Given the description of an element on the screen output the (x, y) to click on. 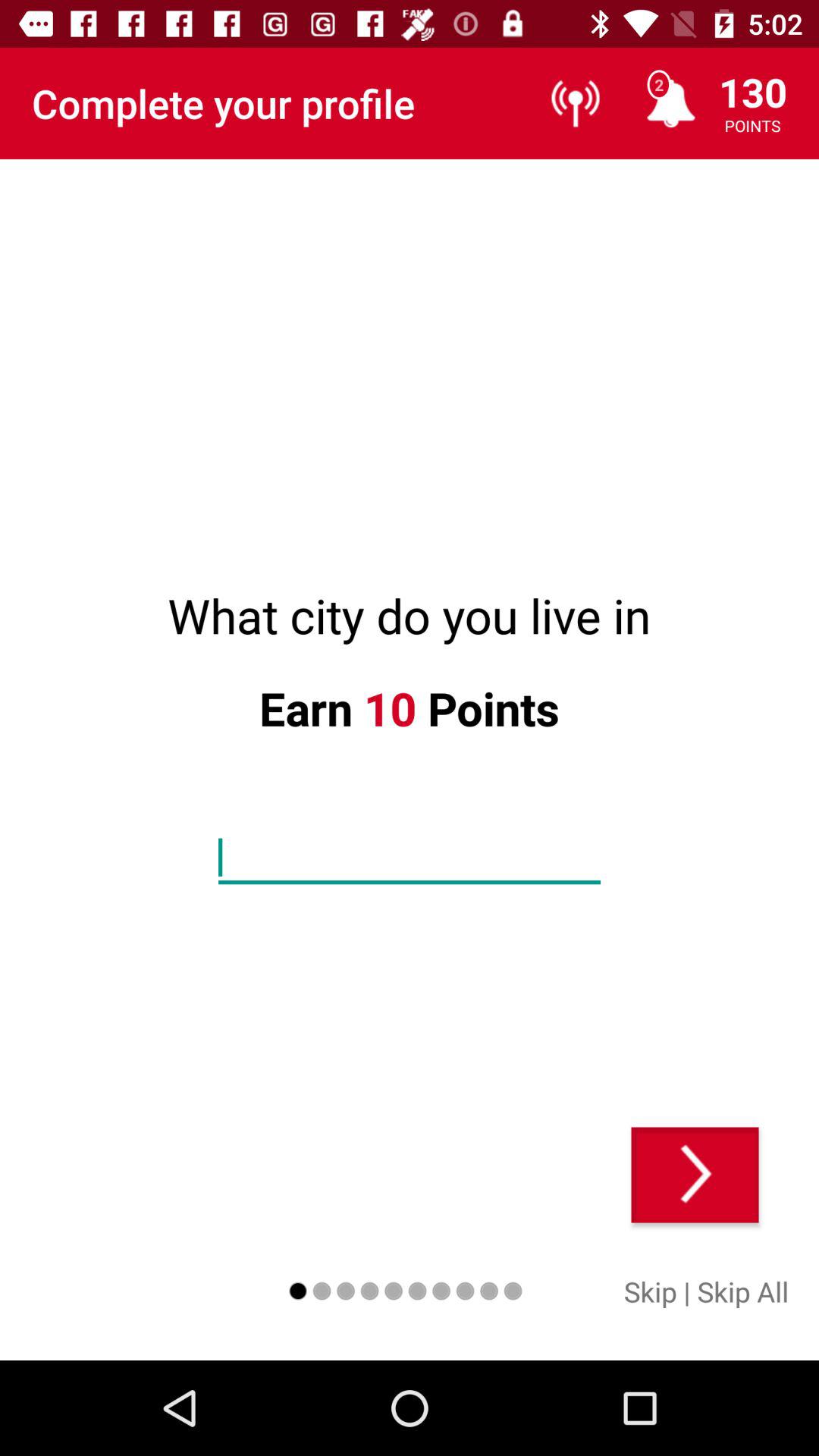
select item next to the  |  icon (742, 1291)
